Given the description of an element on the screen output the (x, y) to click on. 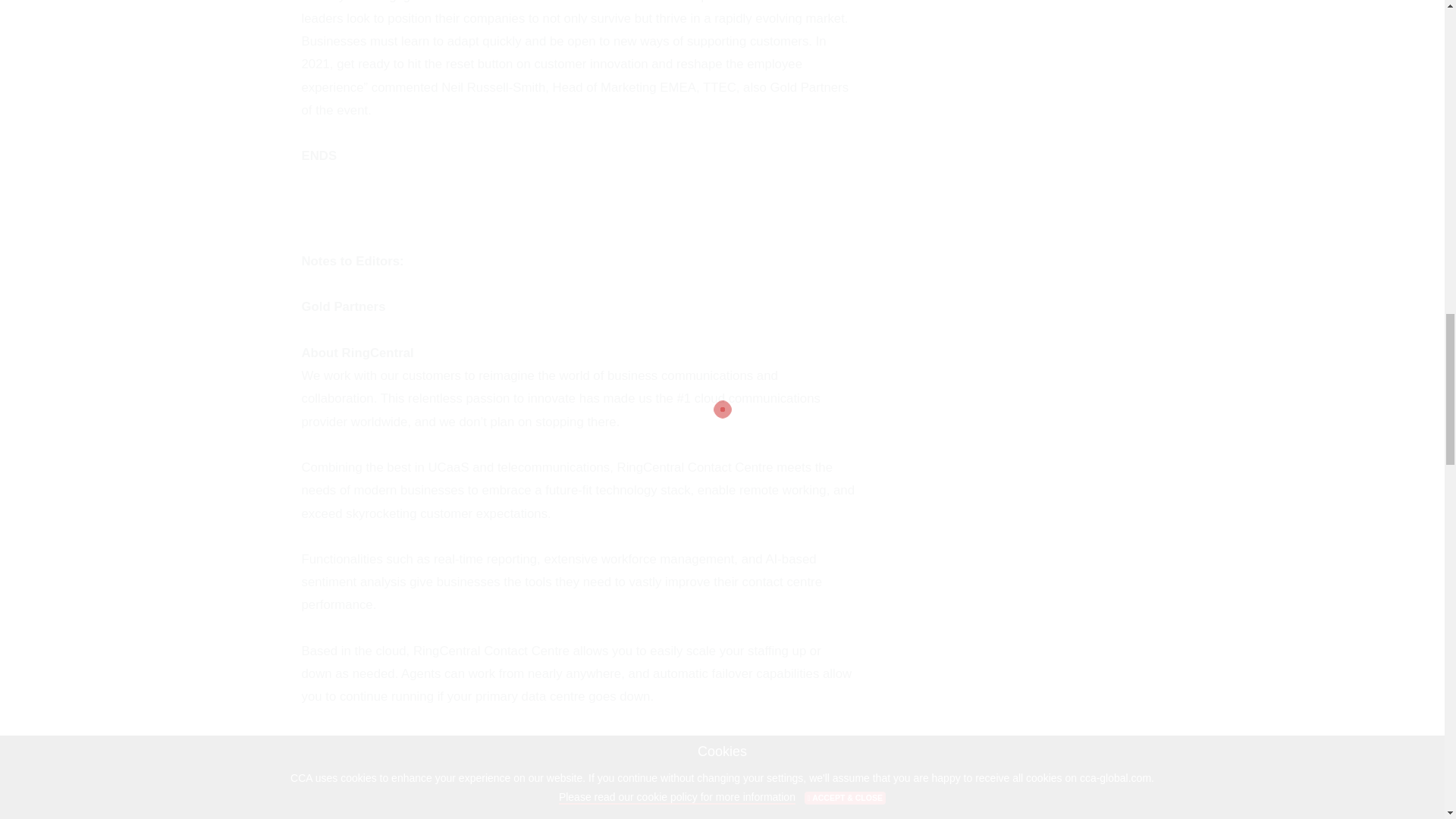
ringcentral.co.uk (539, 742)
LinkedIn (431, 765)
YouTube (509, 765)
Twitter (382, 765)
